Given the description of an element on the screen output the (x, y) to click on. 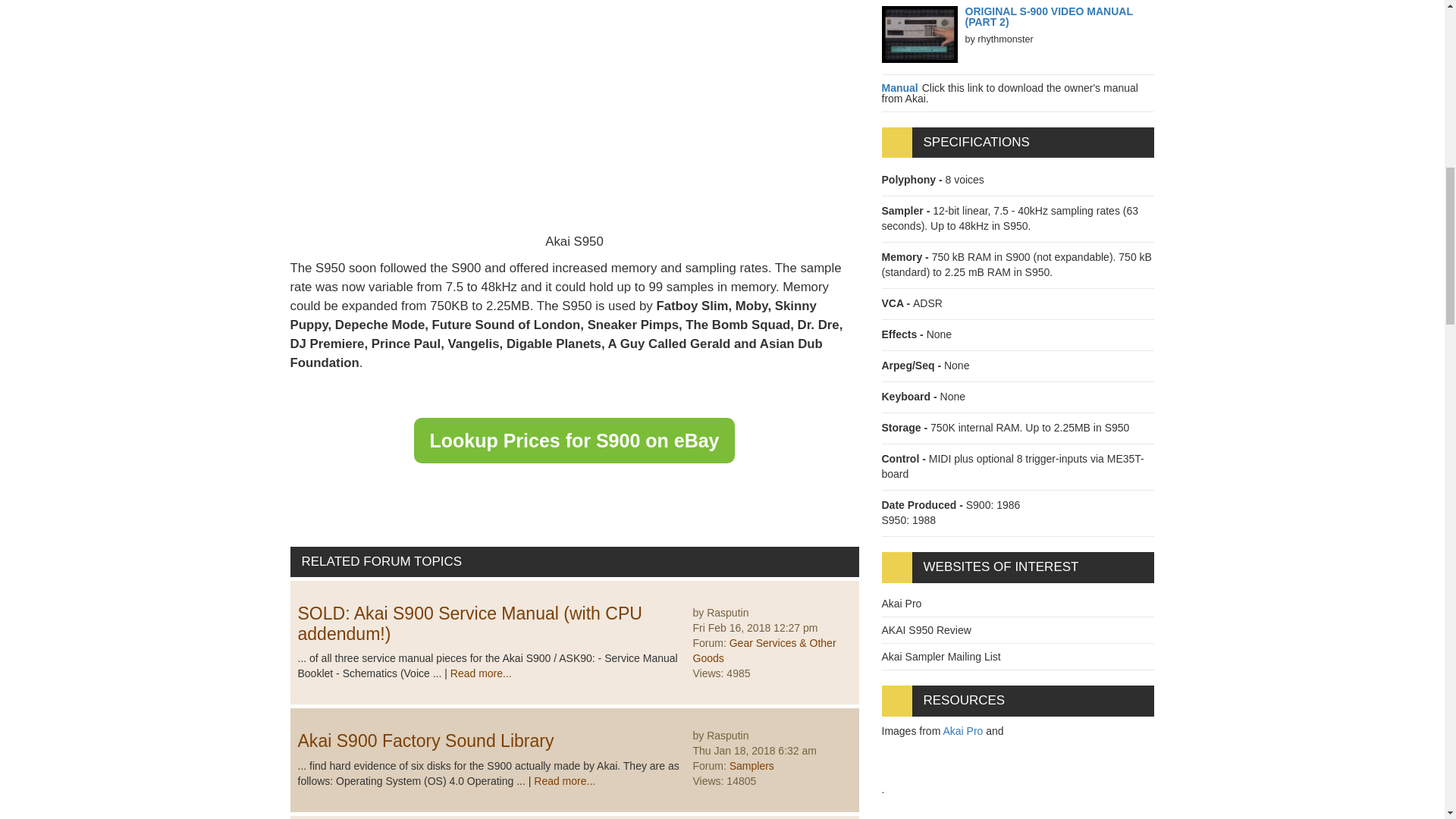
Date Produced (922, 504)
Control (904, 458)
Memory (905, 256)
Akai S950 (574, 108)
Effects (903, 334)
Sampler (906, 210)
Lookup Prices for S900 on eBay (573, 440)
VCA (896, 303)
Keyboard (909, 396)
Polyphony (912, 179)
Samplers (751, 766)
Storage (905, 427)
Read more... (564, 780)
Akai S900 Factory Sound Library (425, 741)
Read more... (480, 673)
